Given the description of an element on the screen output the (x, y) to click on. 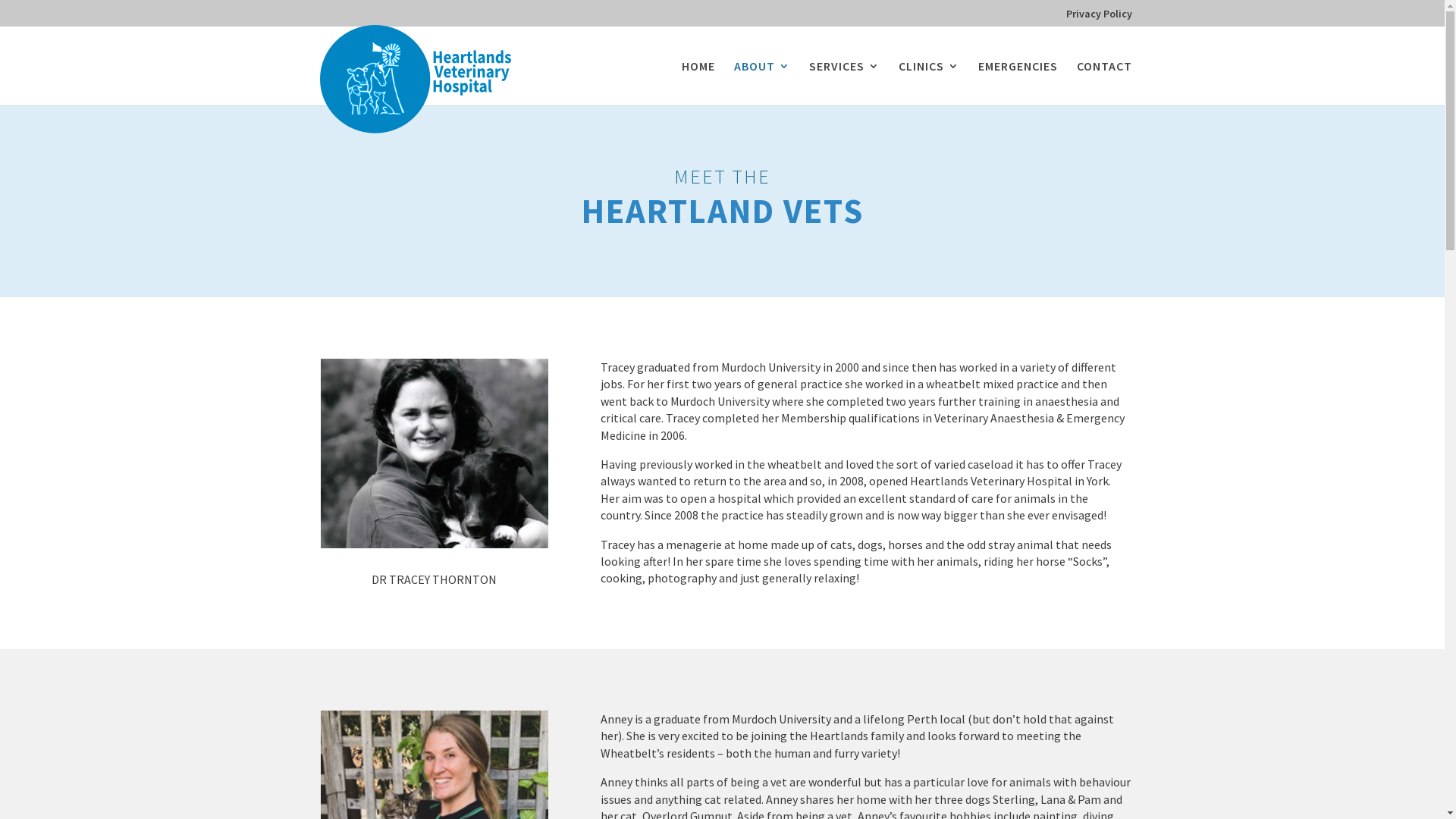
HOME Element type: text (697, 82)
EMERGENCIES Element type: text (1017, 82)
Privacy Policy Element type: text (1099, 16)
ABOUT Element type: text (762, 82)
SERVICES Element type: text (843, 82)
CLINICS Element type: text (927, 82)
CONTACT Element type: text (1104, 82)
